Given the description of an element on the screen output the (x, y) to click on. 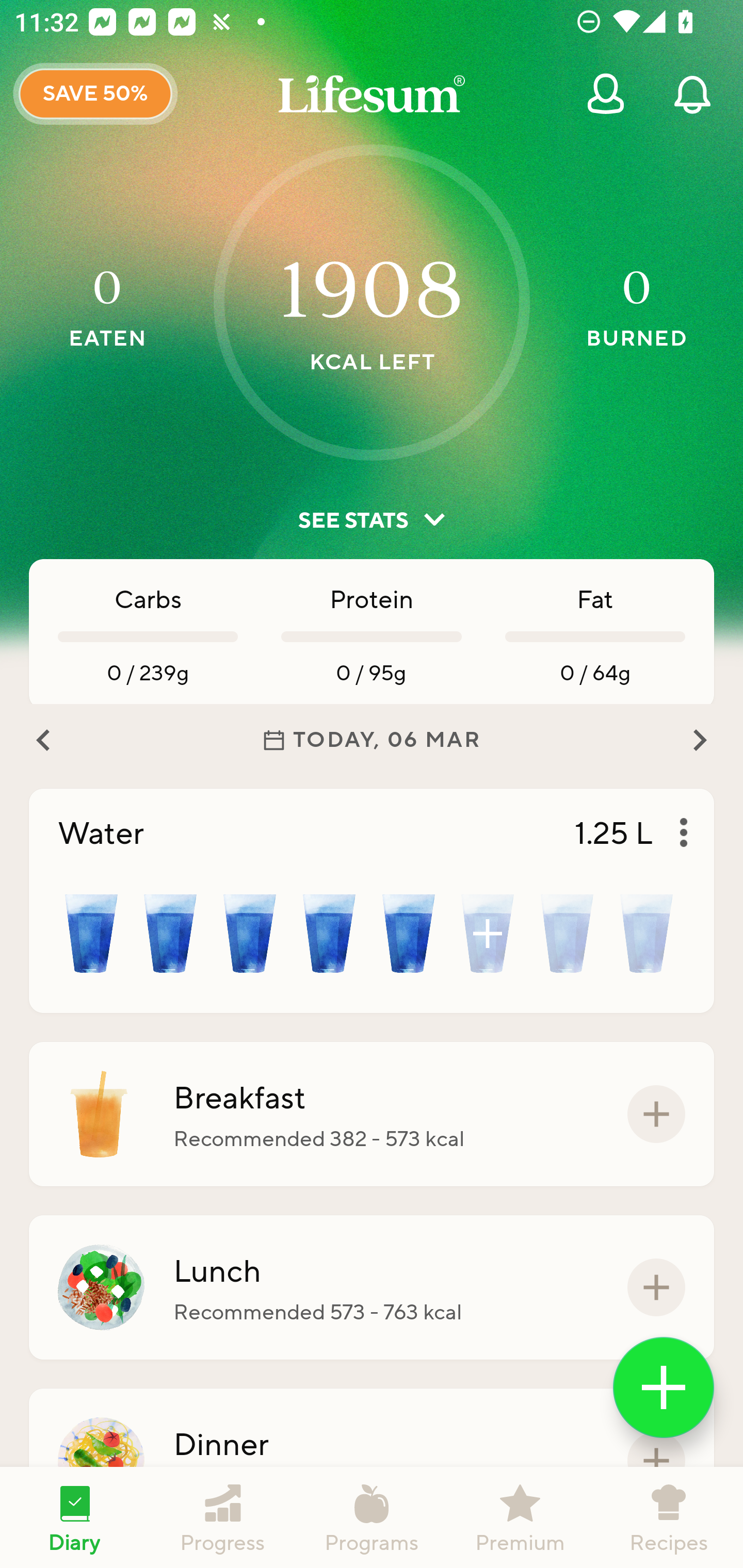
SEE STATS (371, 519)
TODAY, 06 MAR (371, 739)
Breakfast Recommended 382 - 573 kcal (371, 1113)
Lunch Recommended 573 - 763 kcal (371, 1287)
Dinner Recommended 573 - 763 kcal (371, 1461)
Progress (222, 1517)
Programs (371, 1517)
Premium (519, 1517)
Recipes (668, 1517)
